Given the description of an element on the screen output the (x, y) to click on. 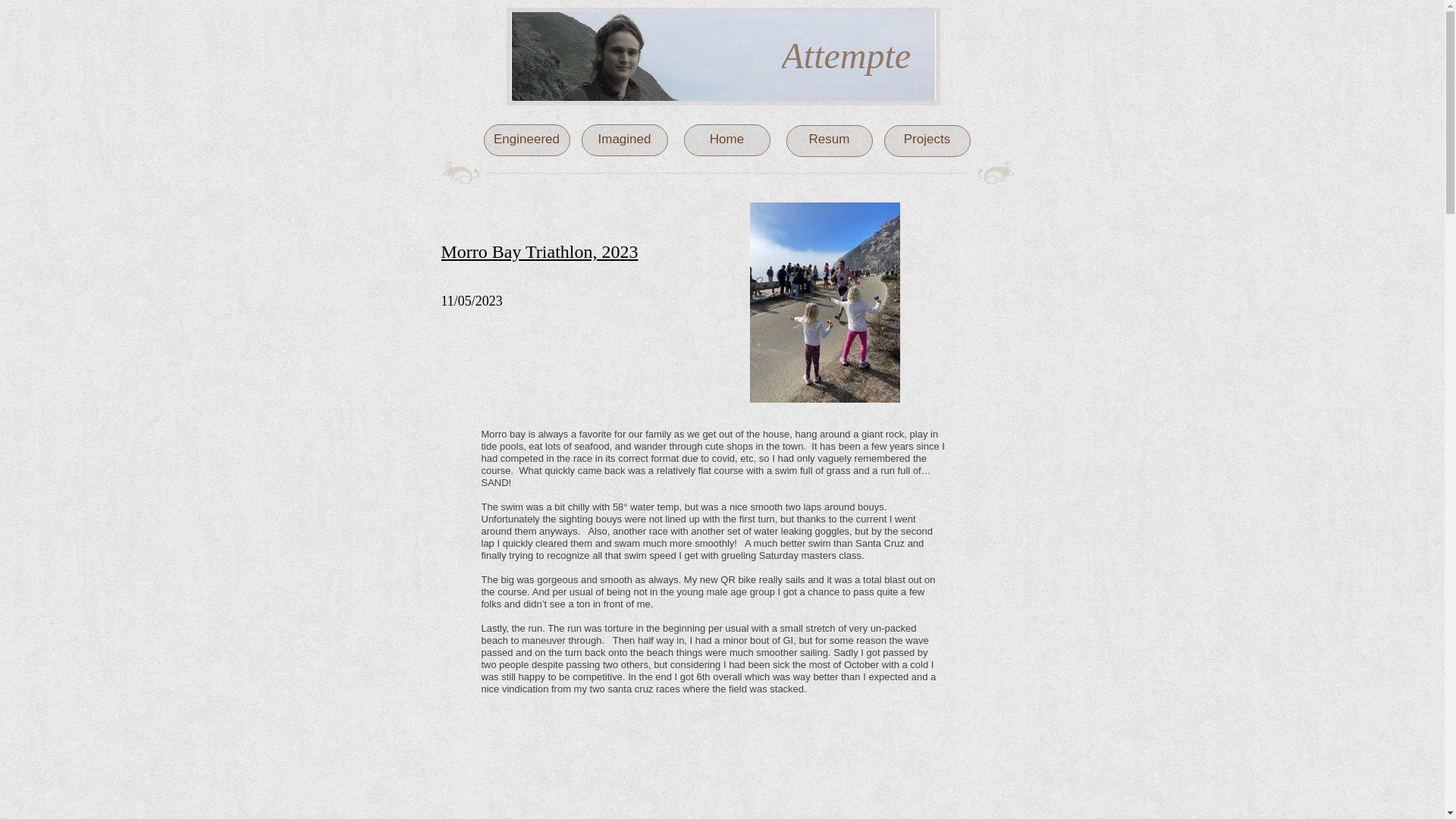
Engineered (526, 138)
Projects (927, 138)
Imagined (624, 138)
Morro Bay Triathlon, 2023 (540, 251)
Home (727, 138)
Resume (829, 147)
